Given the description of an element on the screen output the (x, y) to click on. 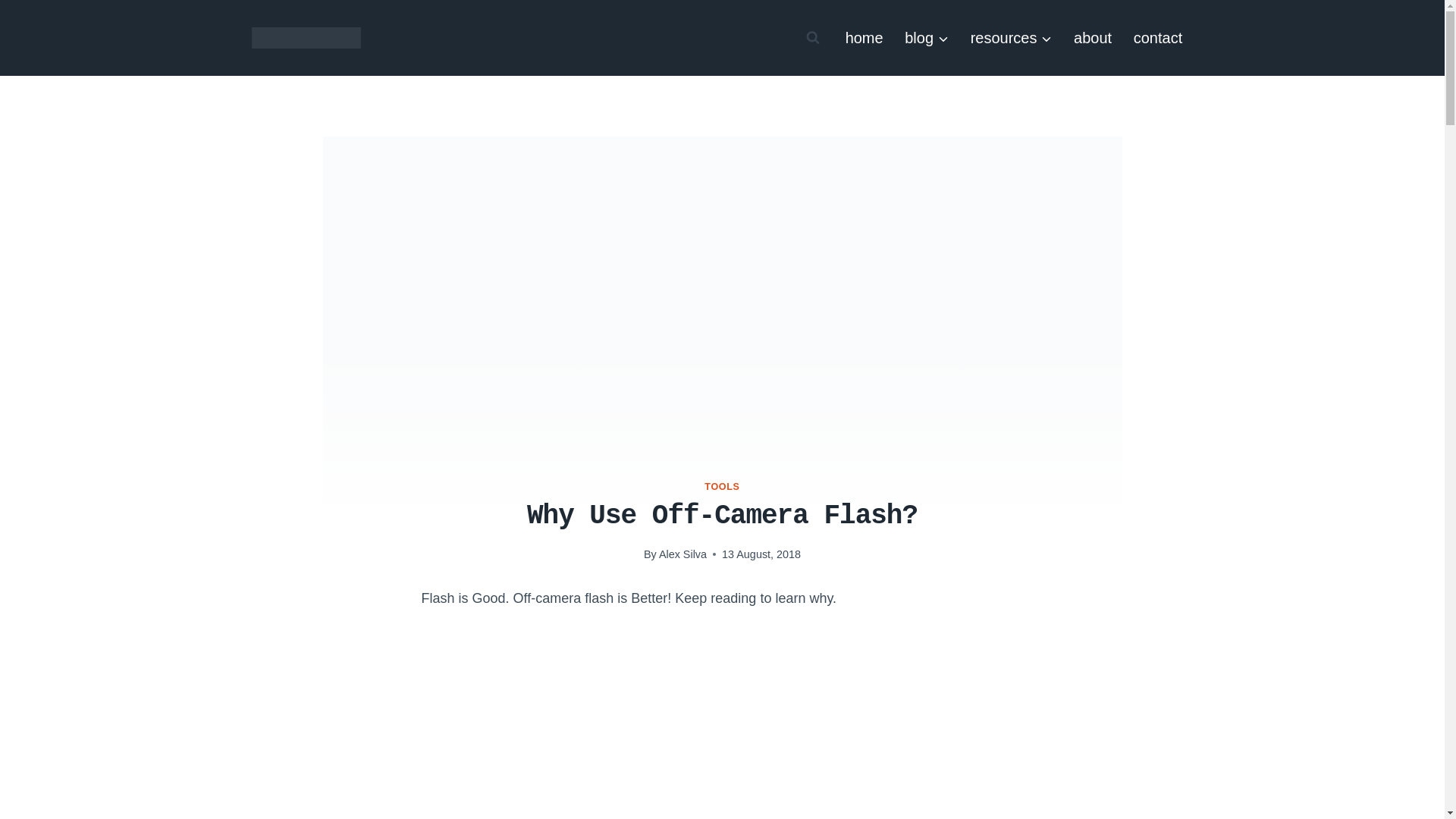
home (863, 37)
about (1092, 37)
contact (1157, 37)
Alex Silva (682, 553)
resources (1010, 37)
TOOLS (721, 486)
blog (926, 37)
